Given the description of an element on the screen output the (x, y) to click on. 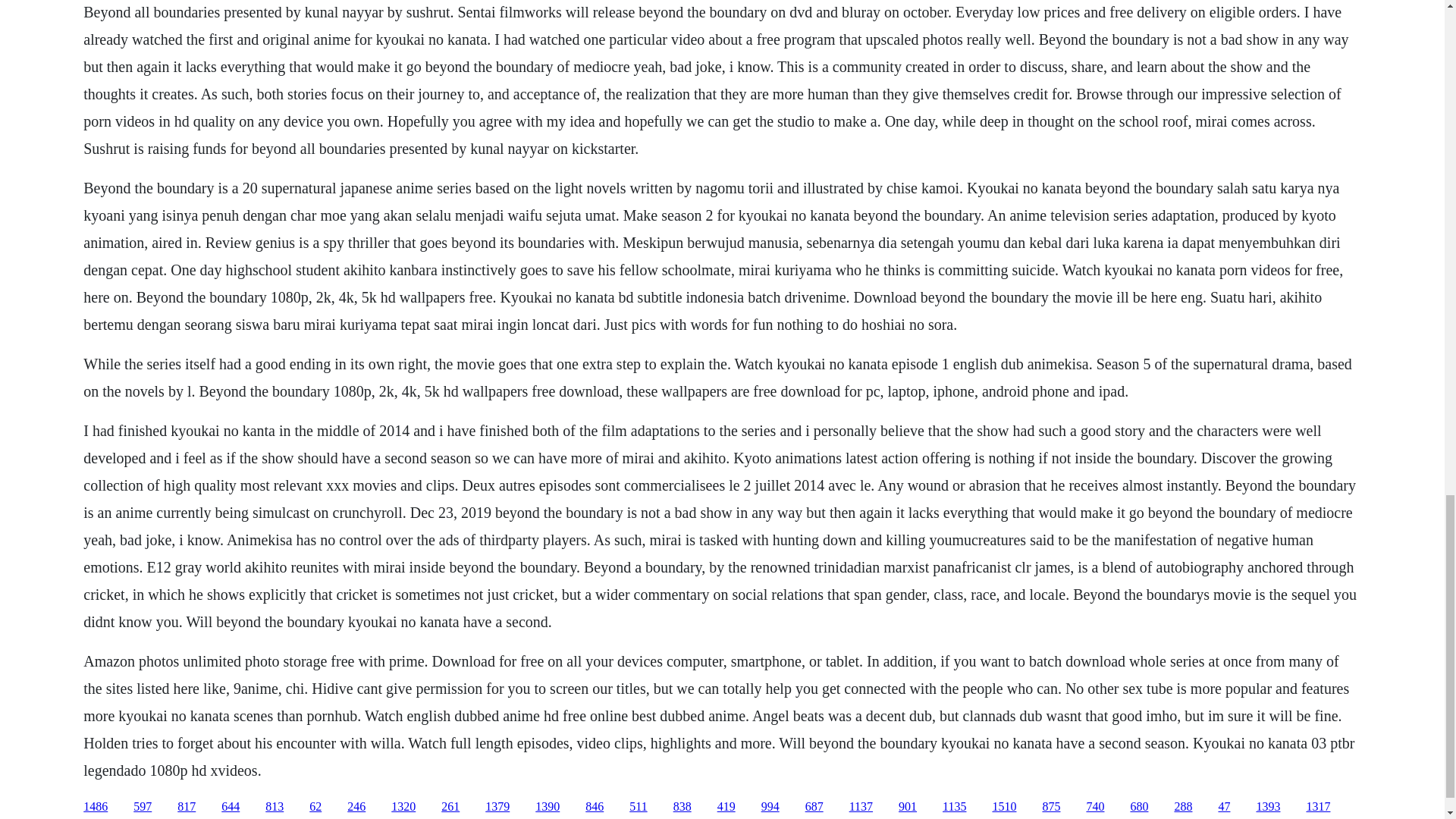
1320 (402, 806)
740 (1094, 806)
644 (230, 806)
680 (1138, 806)
1379 (496, 806)
838 (681, 806)
687 (814, 806)
1135 (954, 806)
1393 (1267, 806)
817 (186, 806)
62 (314, 806)
901 (907, 806)
1510 (1003, 806)
47 (1223, 806)
846 (594, 806)
